Given the description of an element on the screen output the (x, y) to click on. 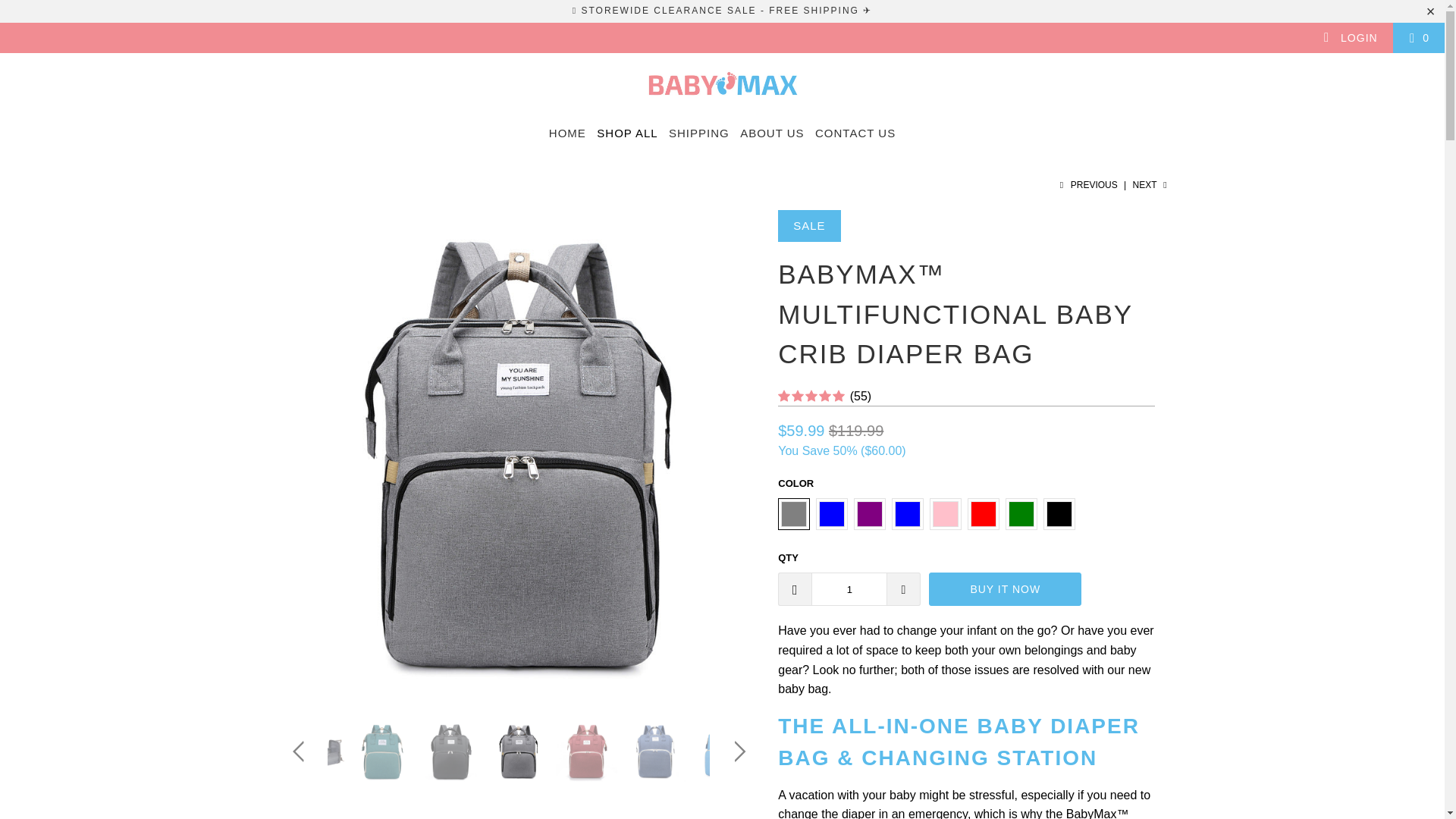
NEXT (1151, 184)
BUY IT NOW (1004, 589)
PREVIOUS (1086, 184)
Next (1151, 184)
My Account  (1350, 37)
1 (848, 589)
CONTACT US (855, 133)
LOGIN (1350, 37)
HOME (567, 133)
SHIPPING (698, 133)
SHOP ALL (627, 133)
ABOUT US (771, 133)
Previous (1086, 184)
